Given the description of an element on the screen output the (x, y) to click on. 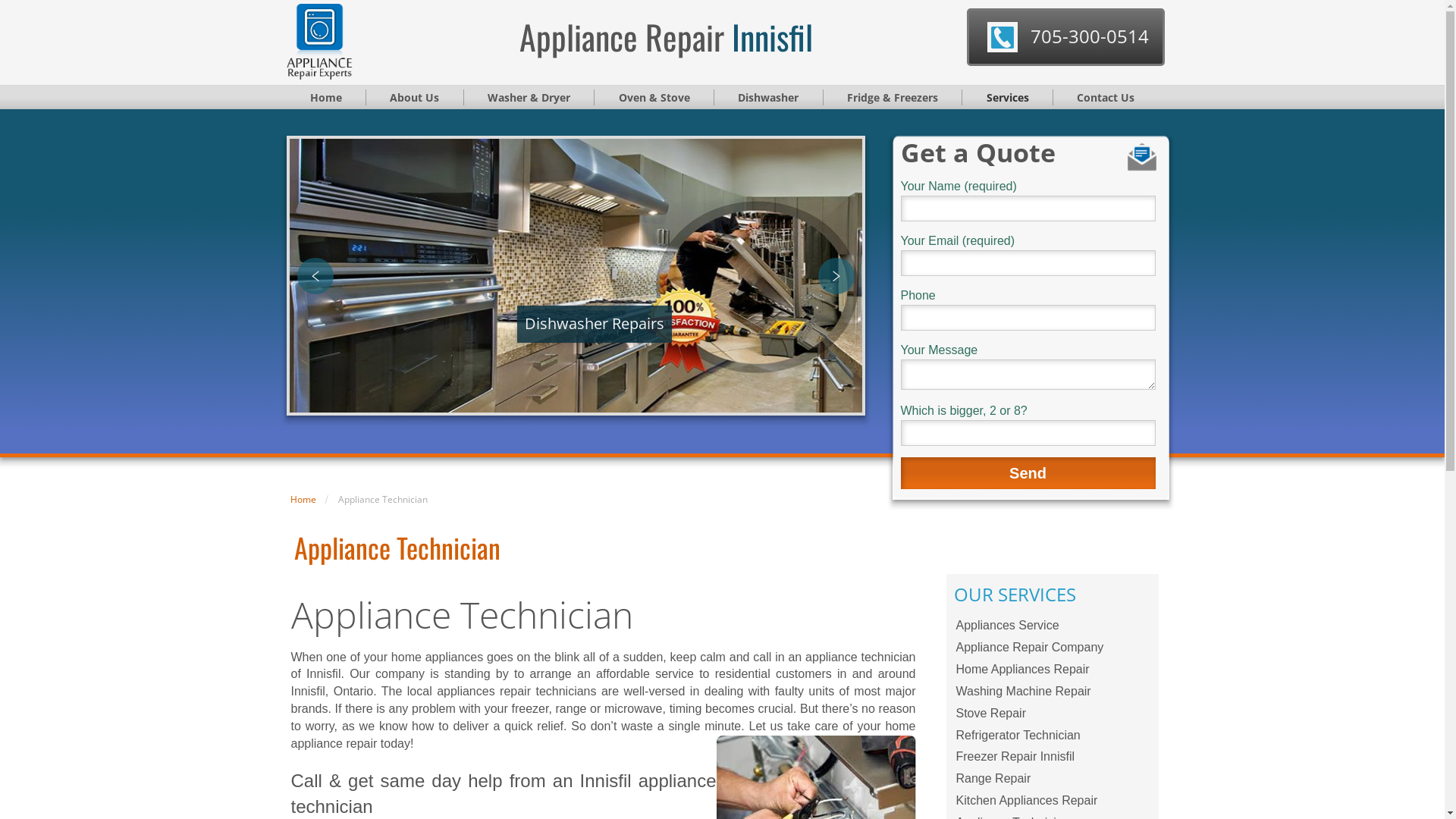
About Us Element type: text (415, 97)
Stove Repair Element type: text (1052, 713)
Appliance Repair Company Element type: text (1052, 647)
Kitchen Appliances Repair Element type: text (1052, 801)
Oven & Stove Element type: text (654, 97)
Home Element type: text (302, 498)
Range Repair Element type: text (1052, 779)
Send Element type: text (1027, 473)
Appliances Service Element type: text (1052, 626)
Fridge & Freezers Element type: text (893, 97)
Refrigerator Technician Element type: text (1052, 735)
Washer & Dryer Element type: text (529, 97)
Dishwasher Element type: text (768, 97)
Contact Us Element type: text (1105, 97)
Washing Machine Repair Element type: text (1052, 691)
Home Appliances Repair Element type: text (1052, 669)
Services Element type: text (1007, 97)
Home Element type: text (326, 97)
Freezer Repair Innisfil Element type: text (1052, 757)
705-300-0514 Element type: text (1089, 35)
